Given the description of an element on the screen output the (x, y) to click on. 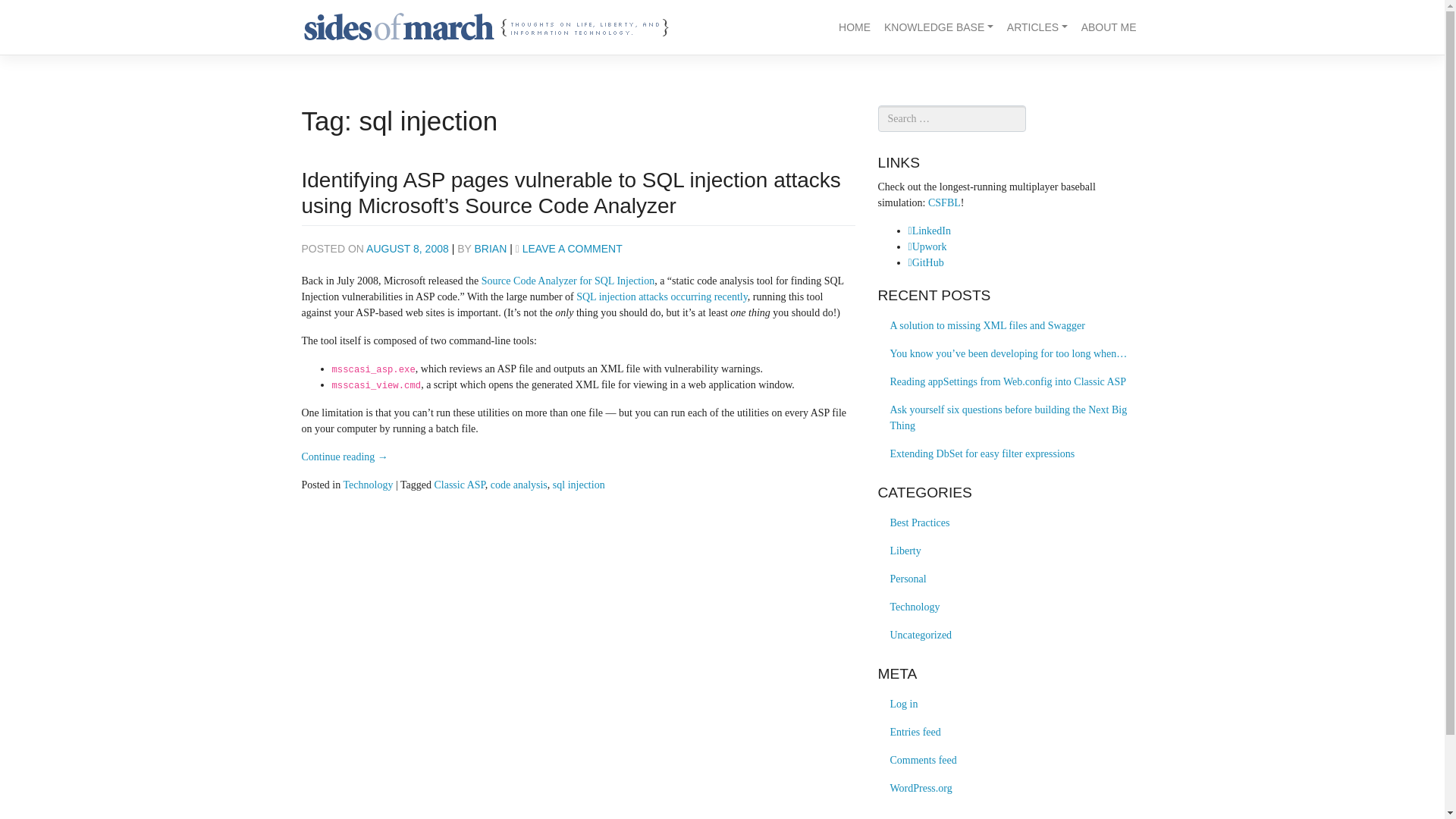
Technology (914, 606)
ARTICLES (1037, 27)
Programming, systems engineering, and all things IT (914, 606)
HOME (854, 27)
Source Code Analyzer for SQL Injection (567, 280)
ABOUT ME (1108, 27)
Technology (367, 484)
SQL injection attacks occurring recently (662, 296)
